Given the description of an element on the screen output the (x, y) to click on. 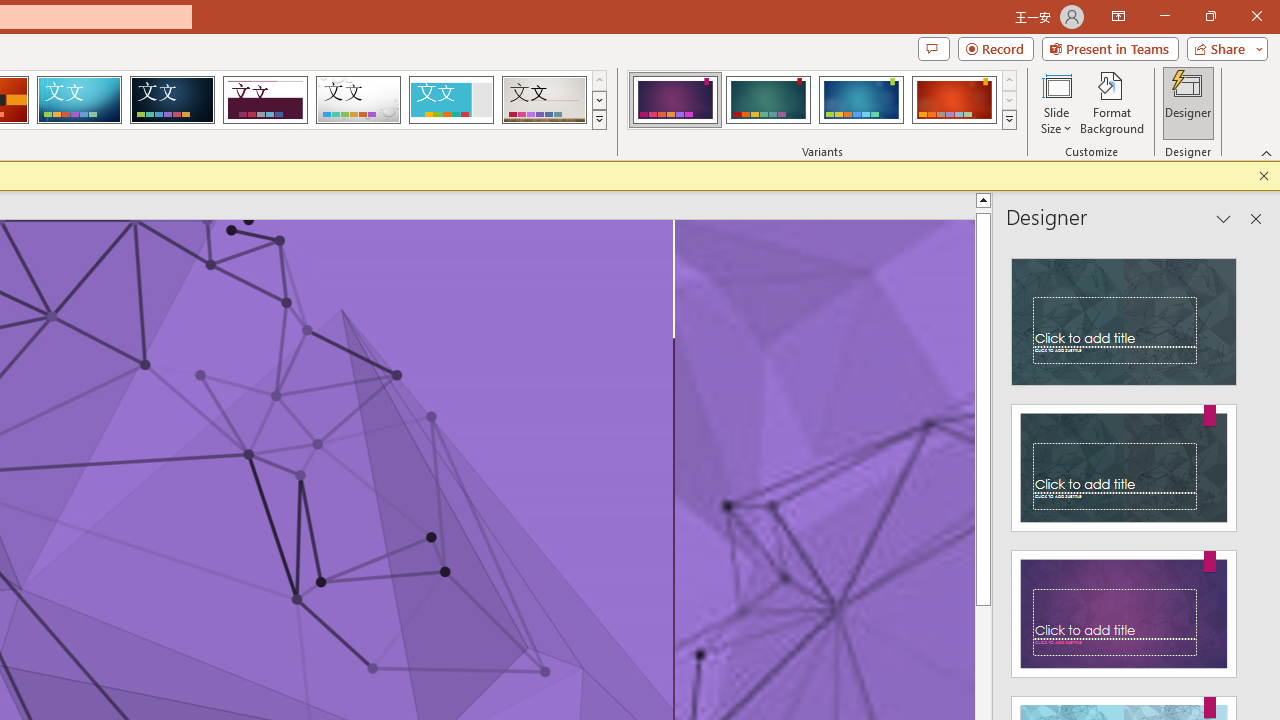
Recommended Design: Design Idea (1124, 315)
Themes (598, 120)
Design Idea (1124, 607)
Slide Size (1056, 102)
Damask (171, 100)
Format Background (1111, 102)
Ion Boardroom Variant 4 (953, 100)
